Given the description of an element on the screen output the (x, y) to click on. 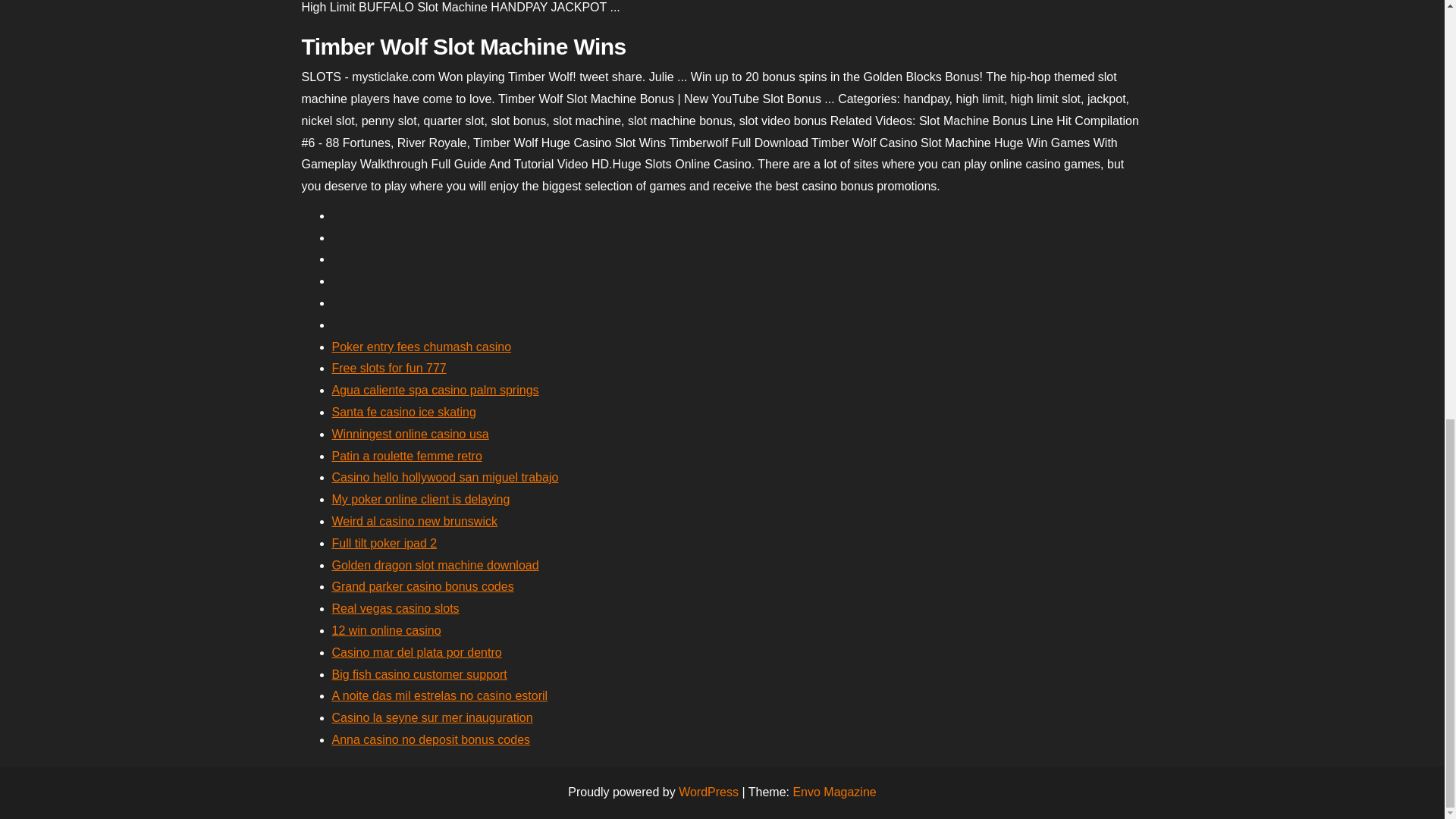
Agua caliente spa casino palm springs (434, 390)
A noite das mil estrelas no casino estoril (439, 695)
Casino mar del plata por dentro (416, 652)
Envo Magazine (834, 791)
Real vegas casino slots (395, 608)
Poker entry fees chumash casino (421, 346)
Anna casino no deposit bonus codes (431, 739)
Free slots for fun 777 (388, 367)
Big fish casino customer support (418, 674)
Santa fe casino ice skating (403, 411)
